Given the description of an element on the screen output the (x, y) to click on. 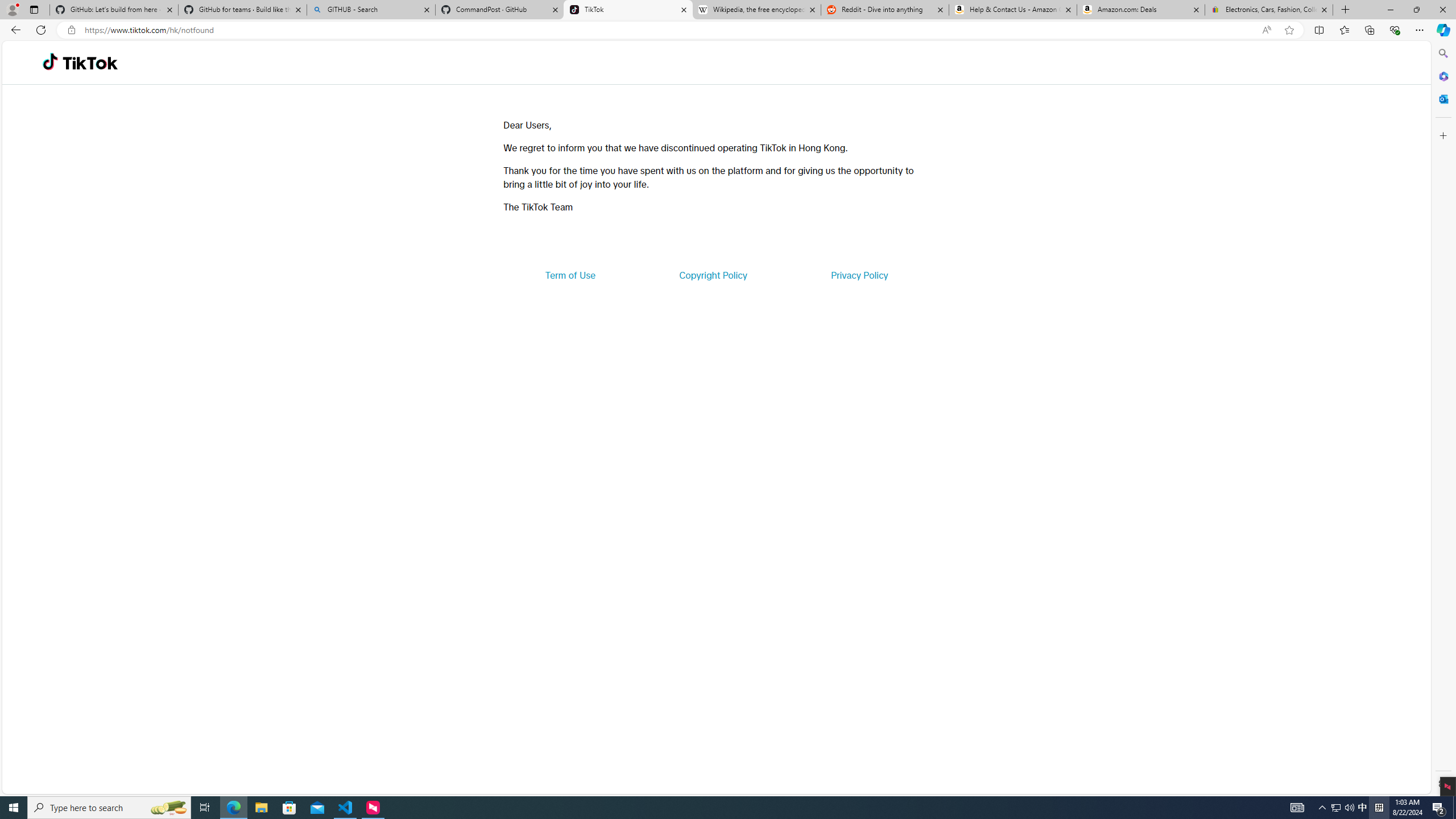
GITHUB - Search (370, 9)
TikTok (89, 62)
Amazon.com: Deals (1140, 9)
Copyright Policy (712, 274)
TikTok (628, 9)
